Given the description of an element on the screen output the (x, y) to click on. 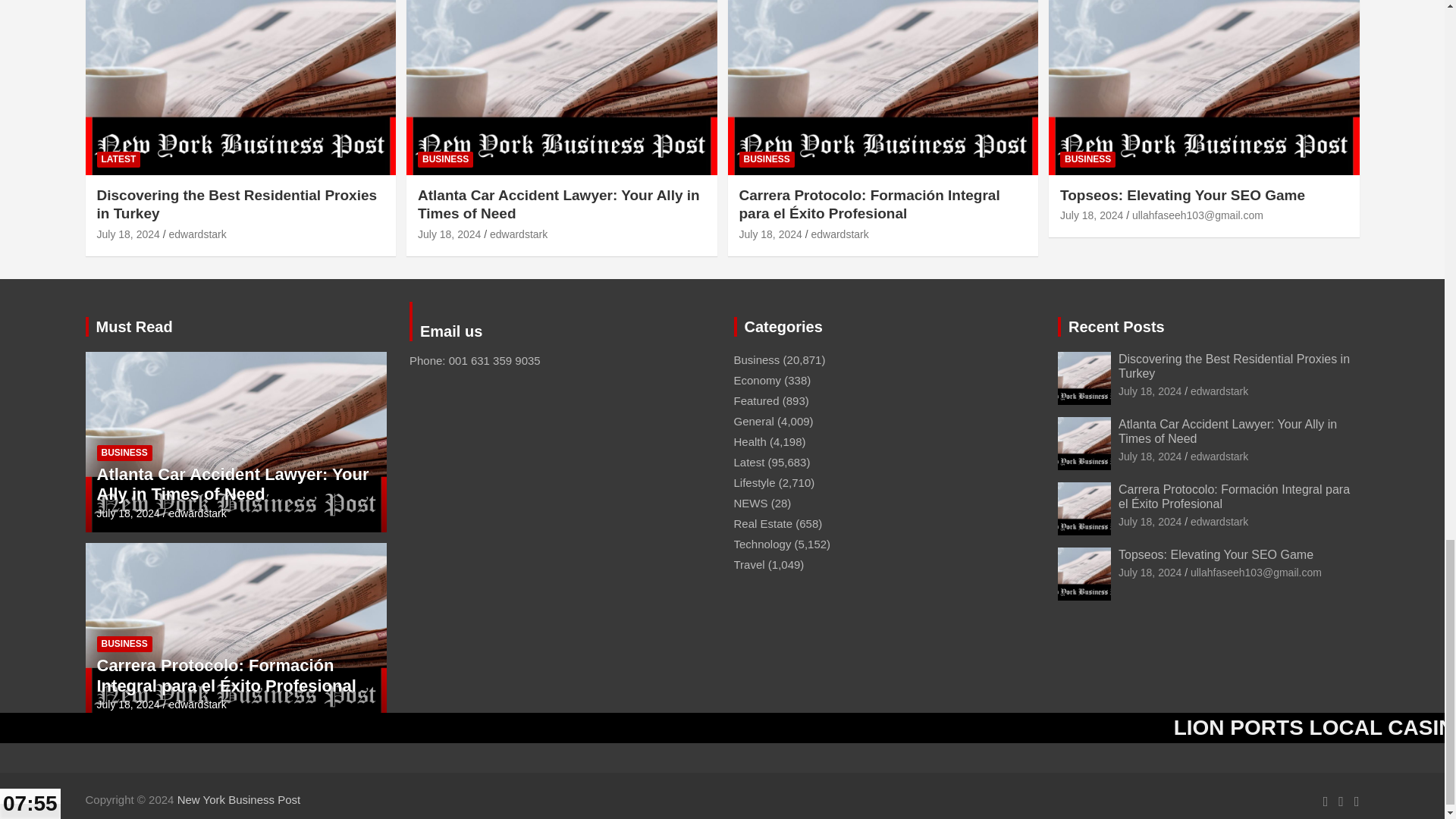
Atlanta Car Accident Lawyer: Your Ally in Times of Need (128, 512)
Topseos: Elevating Your SEO Game (1090, 215)
Discovering the Best Residential Proxies in Turkey (128, 234)
Discovering the Best Residential Proxies in Turkey (1149, 390)
Atlanta Car Accident Lawyer: Your Ally in Times of Need (448, 234)
Atlanta Car Accident Lawyer: Your Ally in Times of Need (1149, 456)
